Given the description of an element on the screen output the (x, y) to click on. 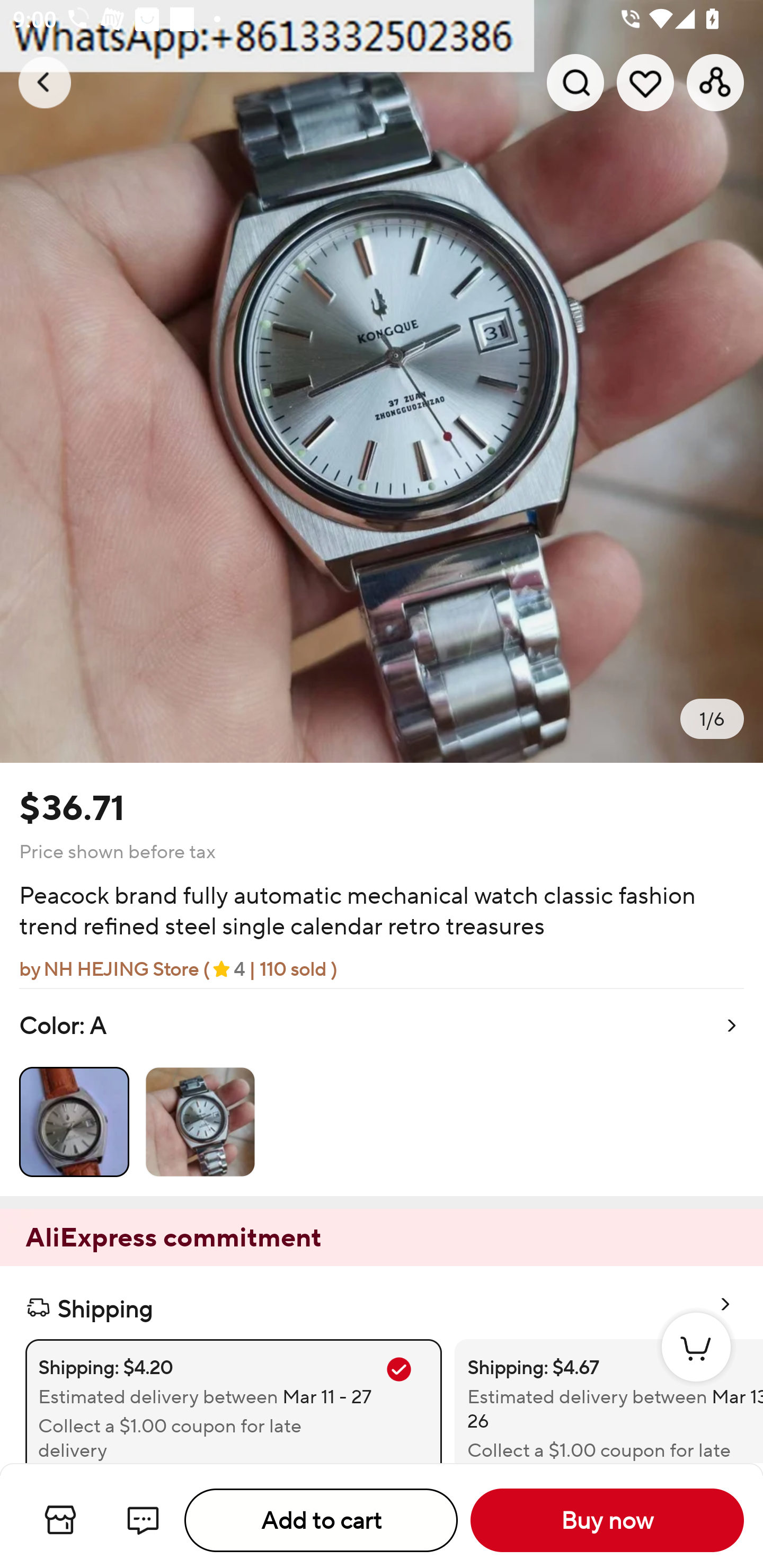
Navigate up (44, 82)
Color: A  (381, 1092)
Add to cart (320, 1520)
Buy now (606, 1520)
